Given the description of an element on the screen output the (x, y) to click on. 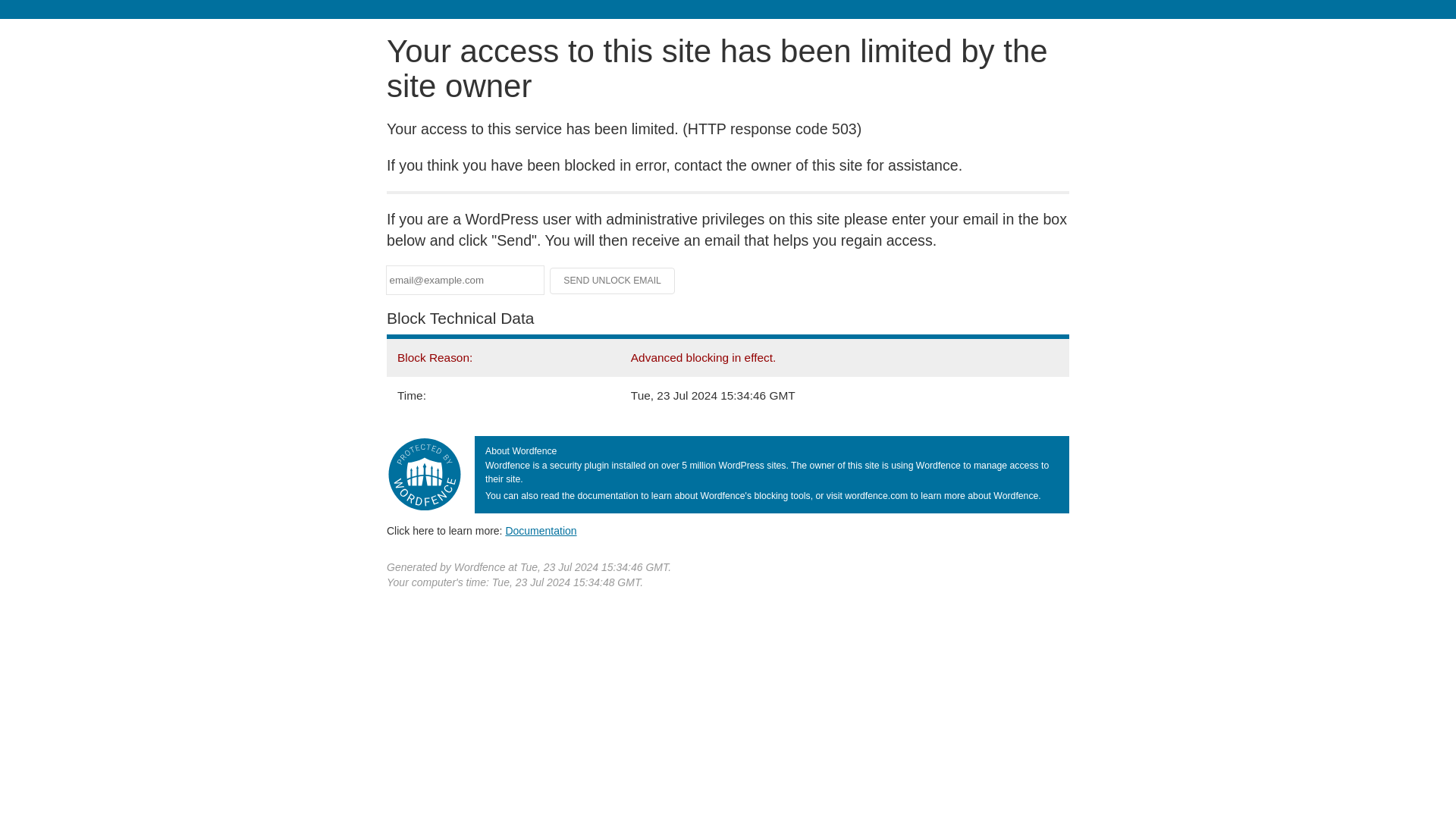
Send Unlock Email (612, 280)
Send Unlock Email (612, 280)
